Given the description of an element on the screen output the (x, y) to click on. 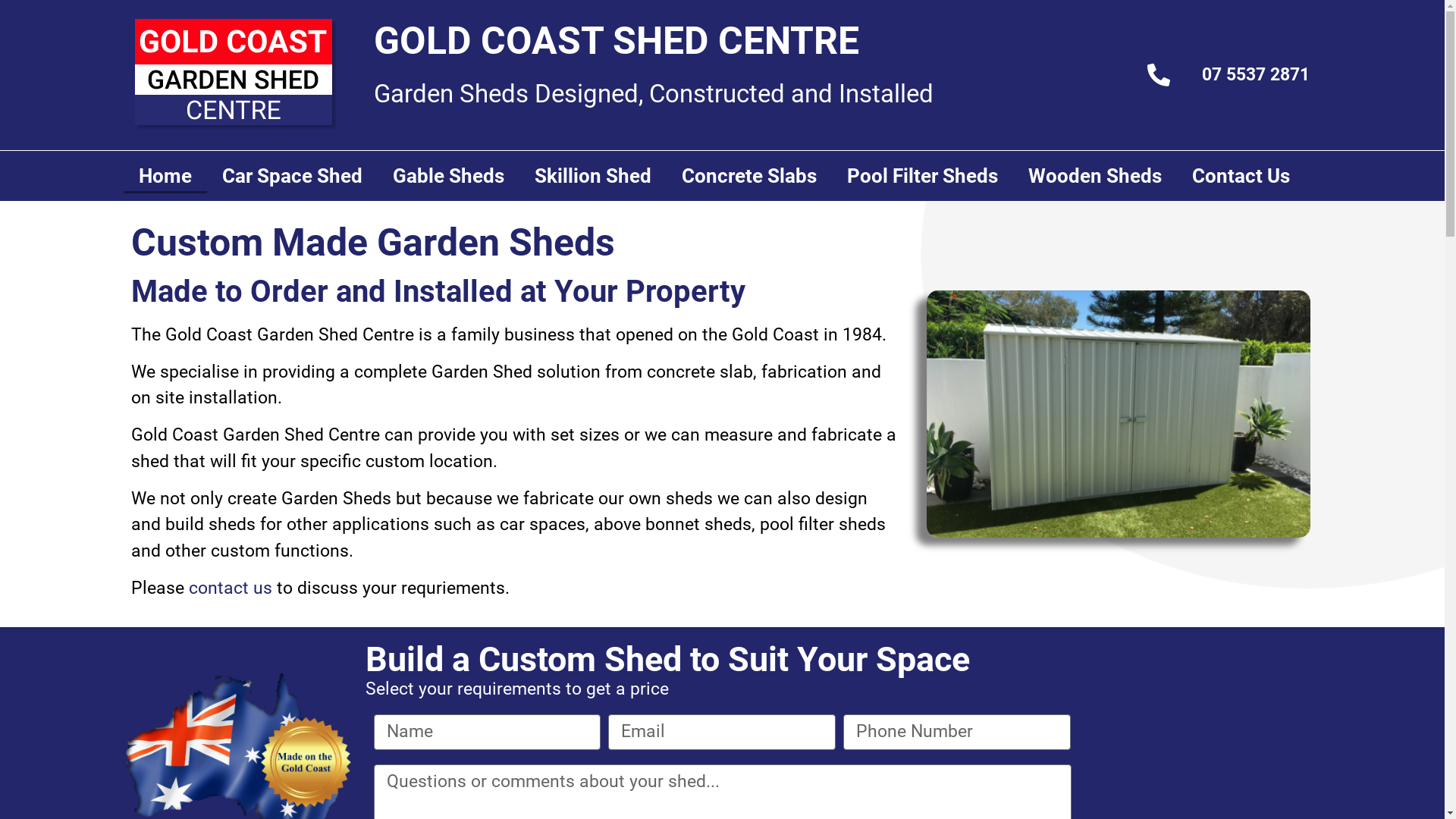
Skillion Shed Element type: text (591, 175)
contact us Element type: text (229, 587)
Home Element type: text (164, 175)
Contact Us Element type: text (1240, 175)
Car Space Shed Element type: text (291, 175)
Concrete Slabs Element type: text (748, 175)
Pool Filter Sheds Element type: text (921, 175)
Gable Sheds Element type: text (448, 175)
Wooden Sheds Element type: text (1094, 175)
